Given the description of an element on the screen output the (x, y) to click on. 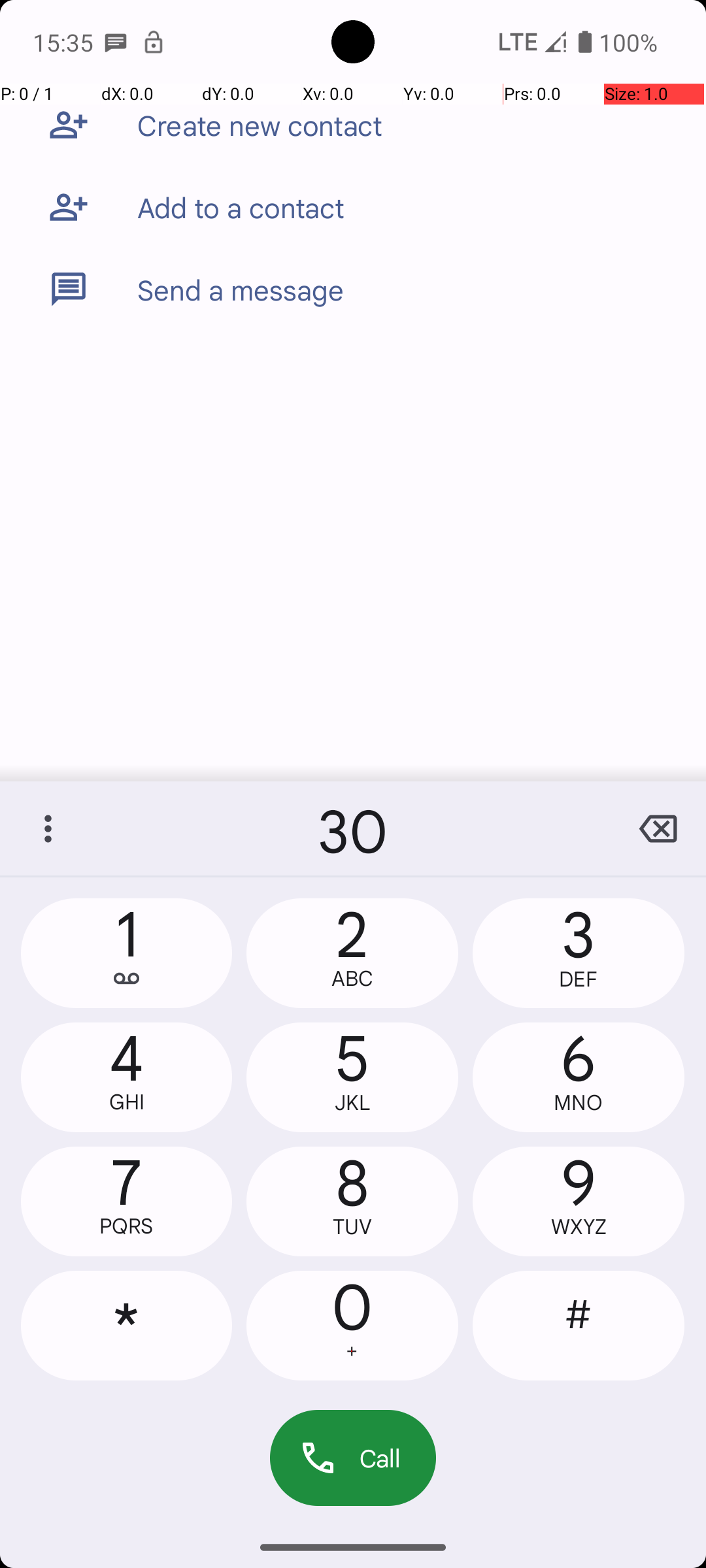
backspace Element type: android.widget.ImageButton (657, 828)
1, Element type: android.widget.FrameLayout (126, 953)
2,ABC Element type: android.widget.FrameLayout (352, 953)
3,DEF Element type: android.widget.FrameLayout (578, 953)
4,GHI Element type: android.widget.FrameLayout (126, 1077)
5,JKL Element type: android.widget.FrameLayout (352, 1077)
6,MNO Element type: android.widget.FrameLayout (578, 1077)
7,PQRS Element type: android.widget.FrameLayout (126, 1201)
8,TUV Element type: android.widget.FrameLayout (352, 1201)
9,WXYZ Element type: android.widget.FrameLayout (578, 1201)
* Element type: android.widget.FrameLayout (126, 1325)
ABC Element type: android.widget.TextView (351, 978)
DEF Element type: android.widget.TextView (578, 978)
GHI Element type: android.widget.TextView (126, 1101)
JKL Element type: android.widget.TextView (351, 1102)
MNO Element type: android.widget.TextView (578, 1102)
PQRS Element type: android.widget.TextView (126, 1225)
TUV Element type: android.widget.TextView (351, 1226)
WXYZ Element type: android.widget.TextView (578, 1226)
+ Element type: android.widget.TextView (351, 1351)
Create new contact Element type: android.widget.TextView (260, 124)
Add to a contact Element type: android.widget.TextView (240, 206)
Send a message Element type: android.widget.TextView (240, 289)
Tasks notification: Connection security Element type: android.widget.ImageView (153, 41)
